Given the description of an element on the screen output the (x, y) to click on. 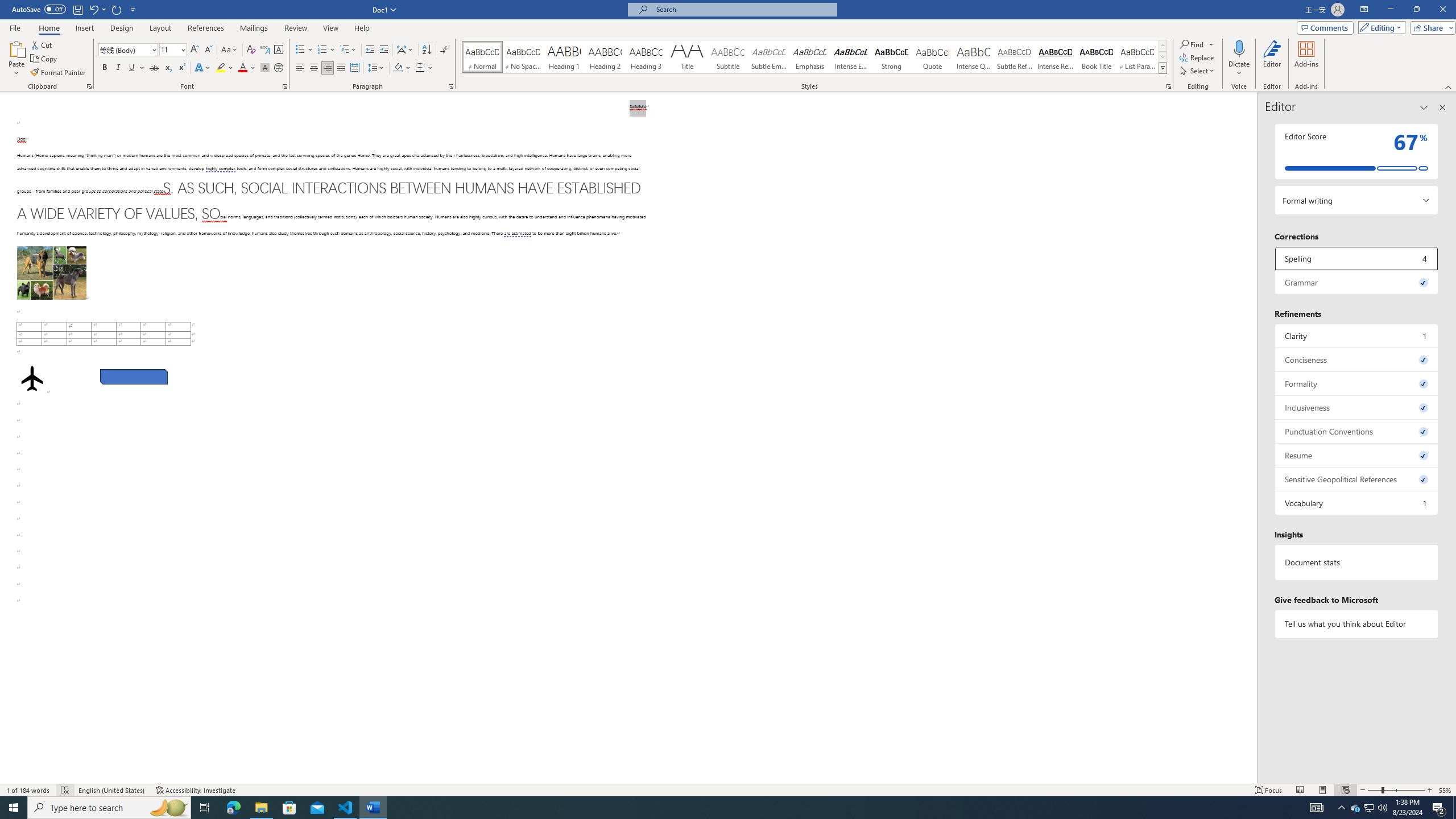
Heading 1 (564, 56)
Subtle Reference (1014, 56)
Emphasis (809, 56)
Clarity, 1 issue. Press space or enter to review items. (1356, 335)
Intense Quote (973, 56)
Rectangle: Diagonal Corners Snipped 2 (133, 376)
